Given the description of an element on the screen output the (x, y) to click on. 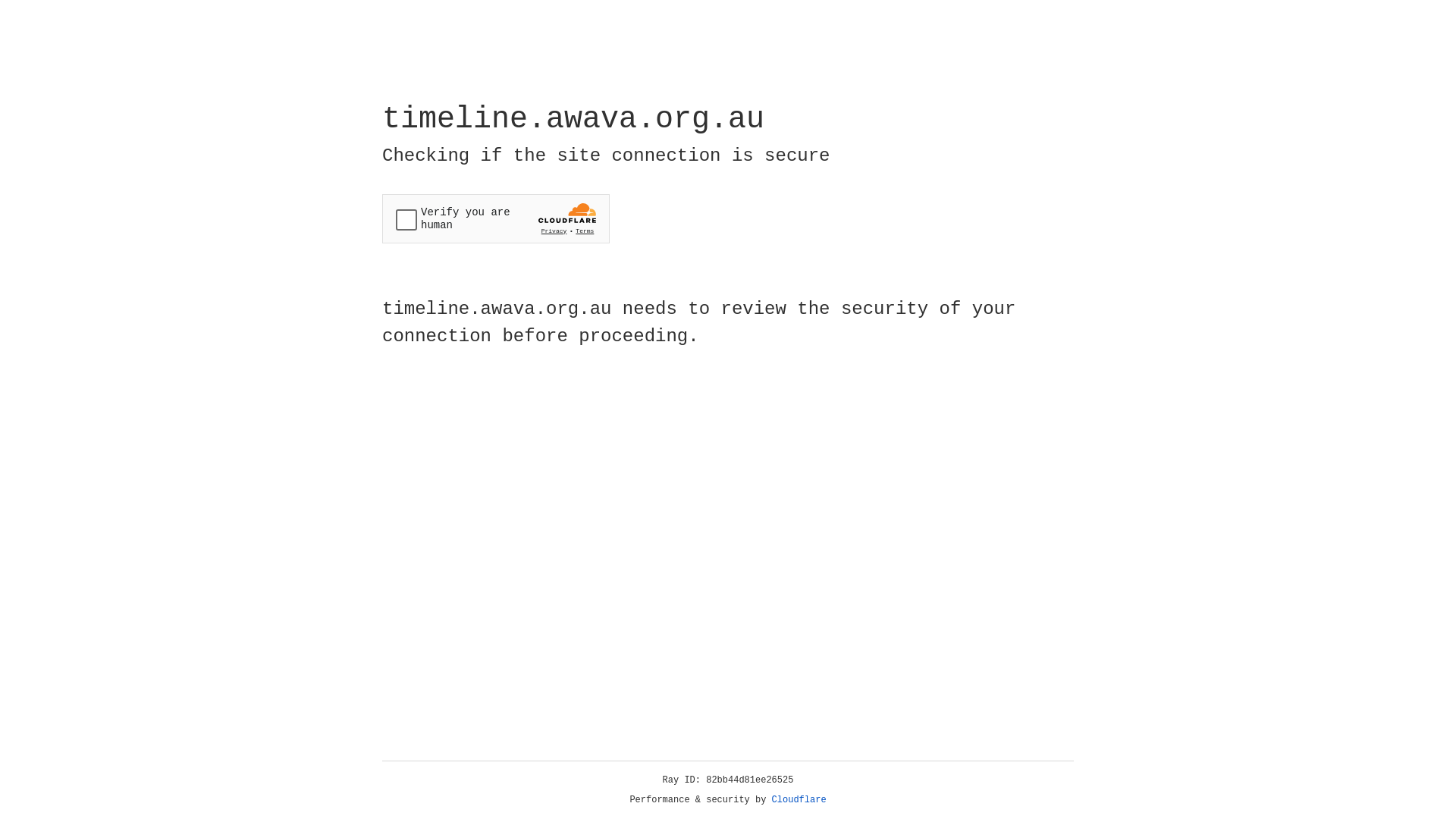
Widget containing a Cloudflare security challenge Element type: hover (495, 218)
Cloudflare Element type: text (798, 799)
